Given the description of an element on the screen output the (x, y) to click on. 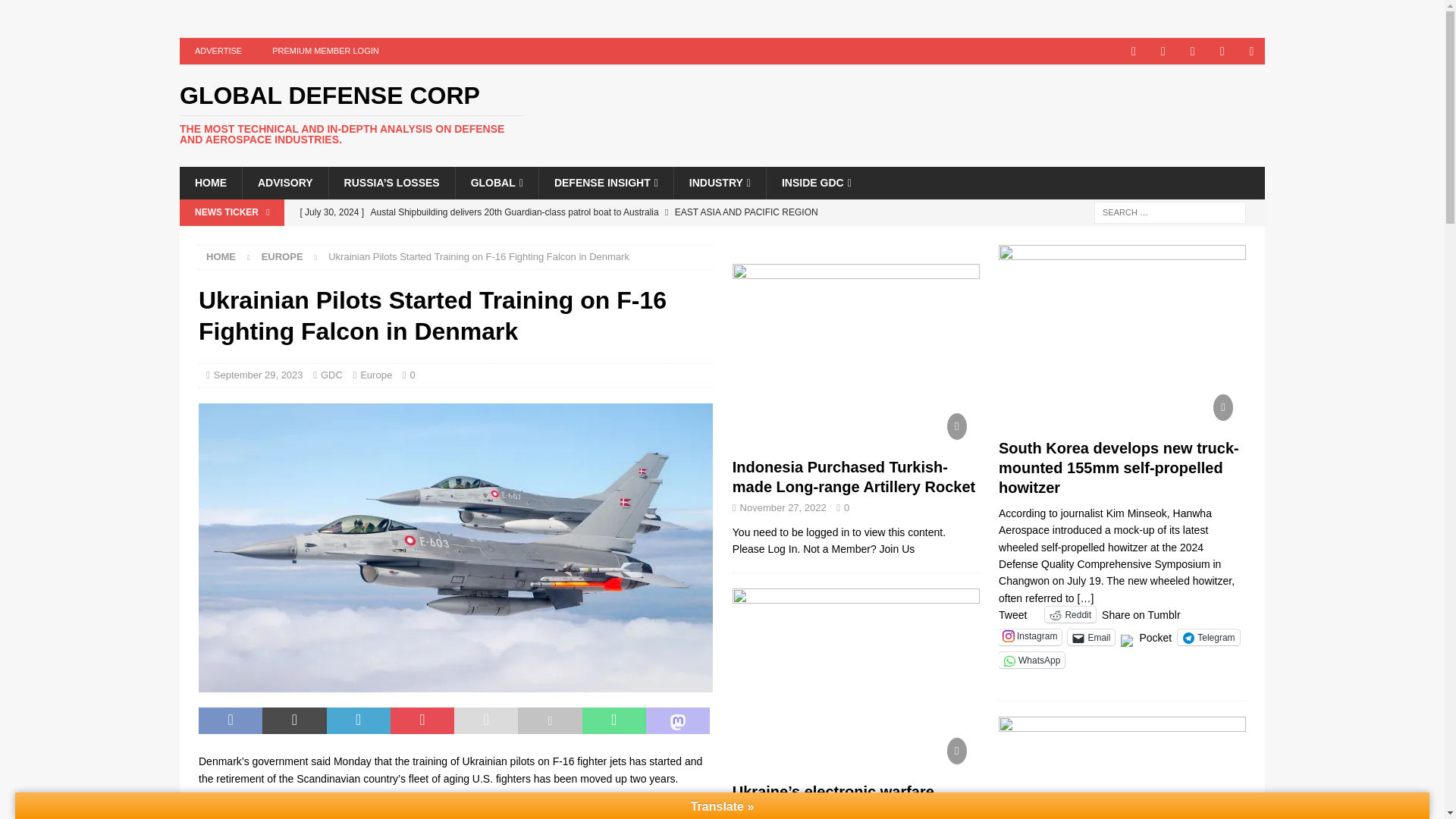
Global Defense Corp (350, 114)
Share on LinkedIn (358, 720)
Share on Facebook (230, 720)
Pin This Post (422, 720)
INDUSTRY (718, 183)
DEFENSE INSIGHT (605, 183)
PREMIUM MEMBER LOGIN (325, 50)
Send this article to a friend (486, 720)
ADVERTISE (218, 50)
Tweet This Post (294, 720)
Europe (282, 256)
HOME (210, 183)
